Given the description of an element on the screen output the (x, y) to click on. 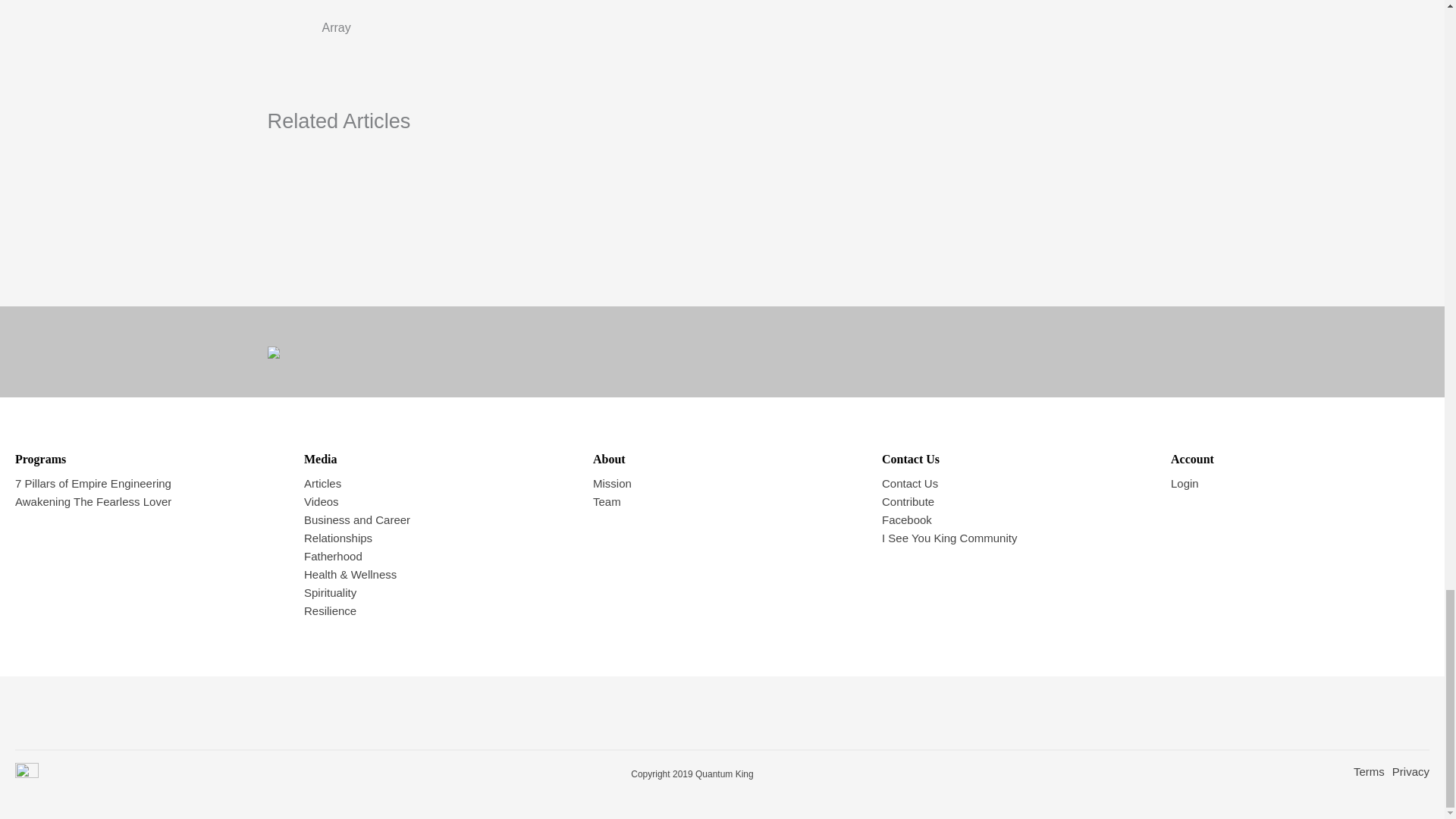
Relationships (338, 537)
7 Pillars of Empire Engineering (92, 482)
Fatherhood (333, 555)
Articles (322, 482)
Videos (321, 501)
Awakening The Fearless Lover (92, 501)
Business and Career (357, 519)
